Given the description of an element on the screen output the (x, y) to click on. 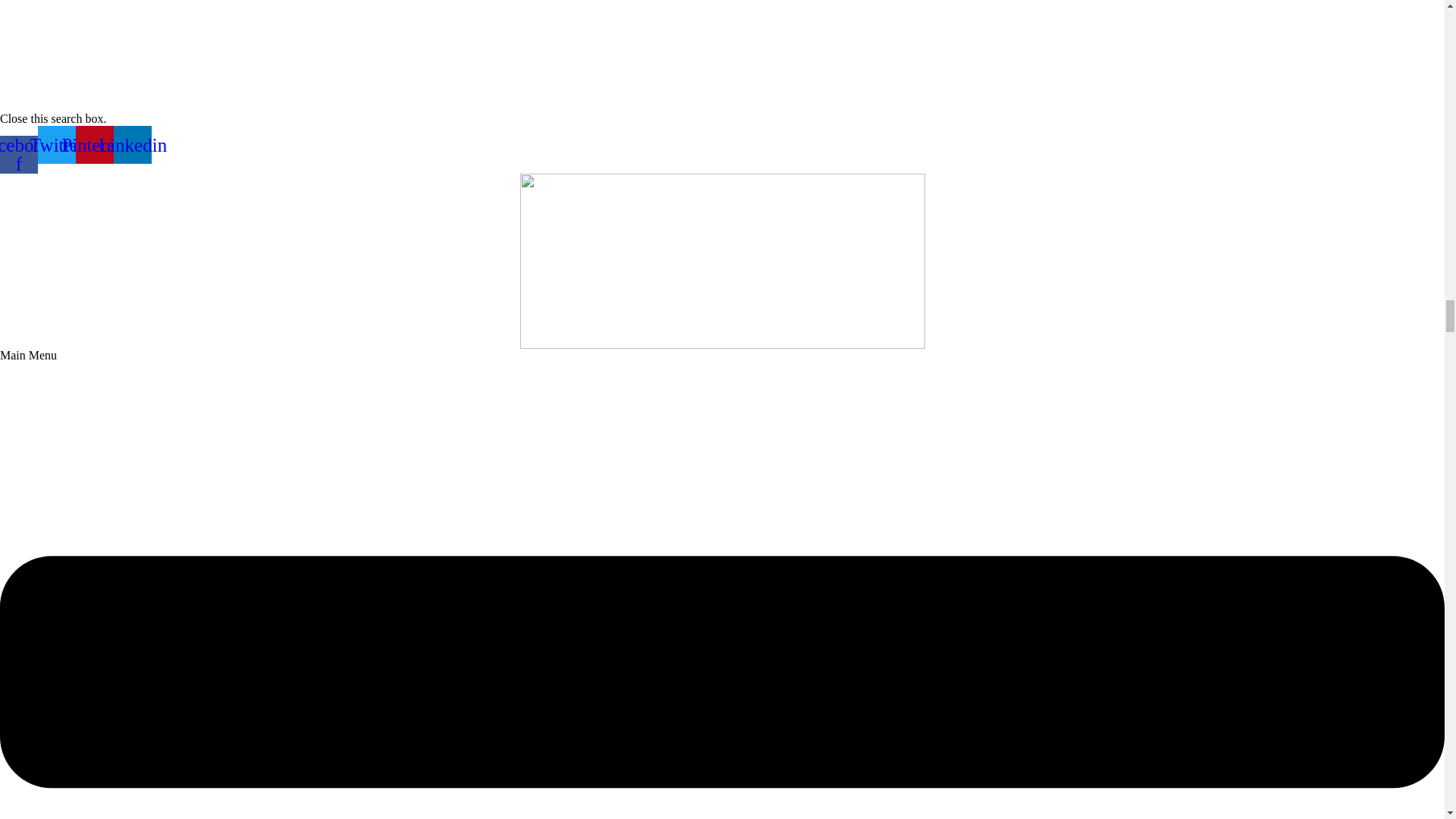
Pinterest (94, 144)
Linkedin (132, 144)
Twitter (56, 144)
Facebook-f (18, 154)
